Given the description of an element on the screen output the (x, y) to click on. 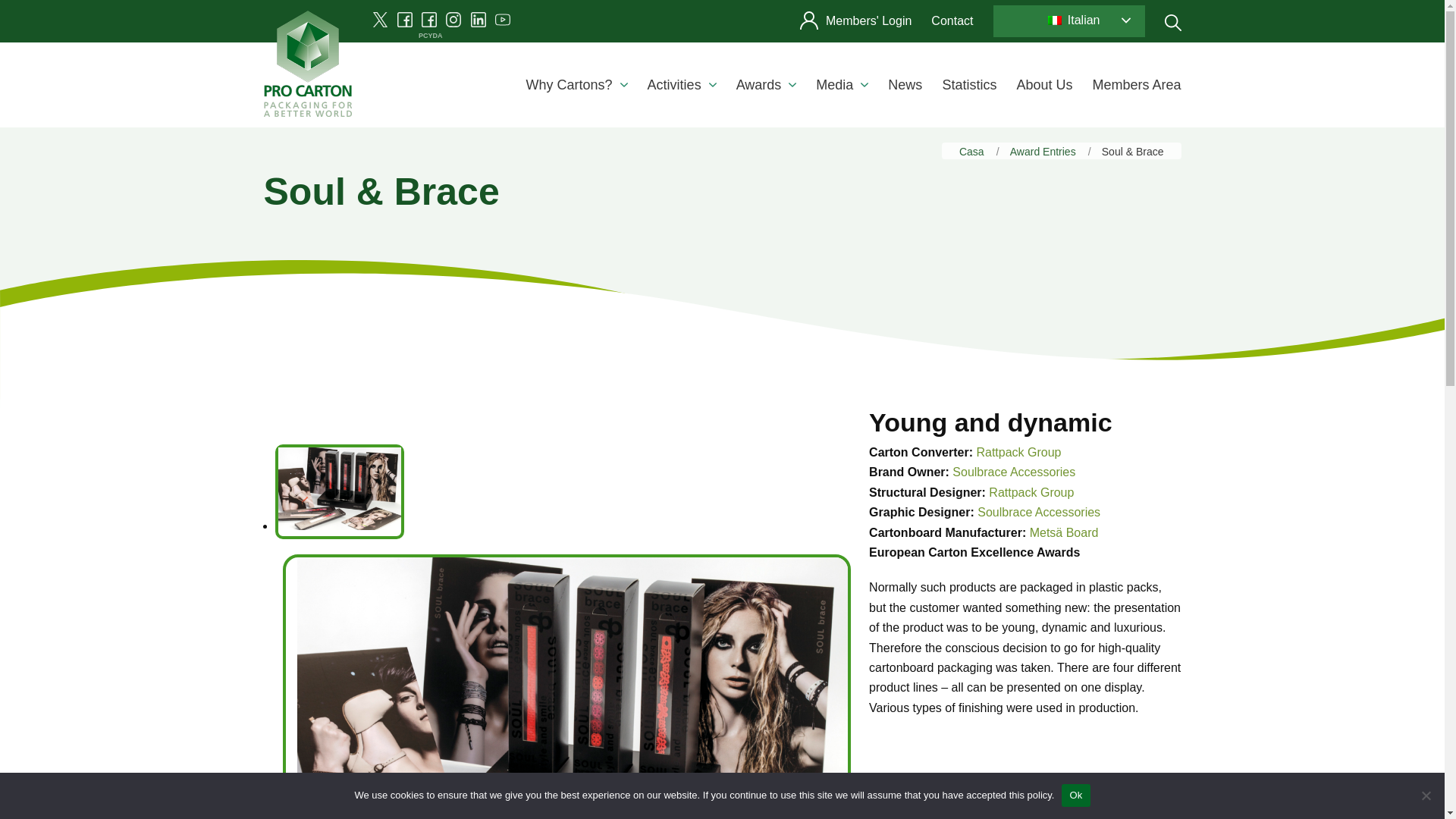
Italian (1085, 20)
Activities (681, 84)
Why Cartons? (576, 84)
Awards (766, 84)
Italian (1054, 20)
Contact (951, 20)
Italian (1085, 20)
Members' Login (855, 20)
